Given the description of an element on the screen output the (x, y) to click on. 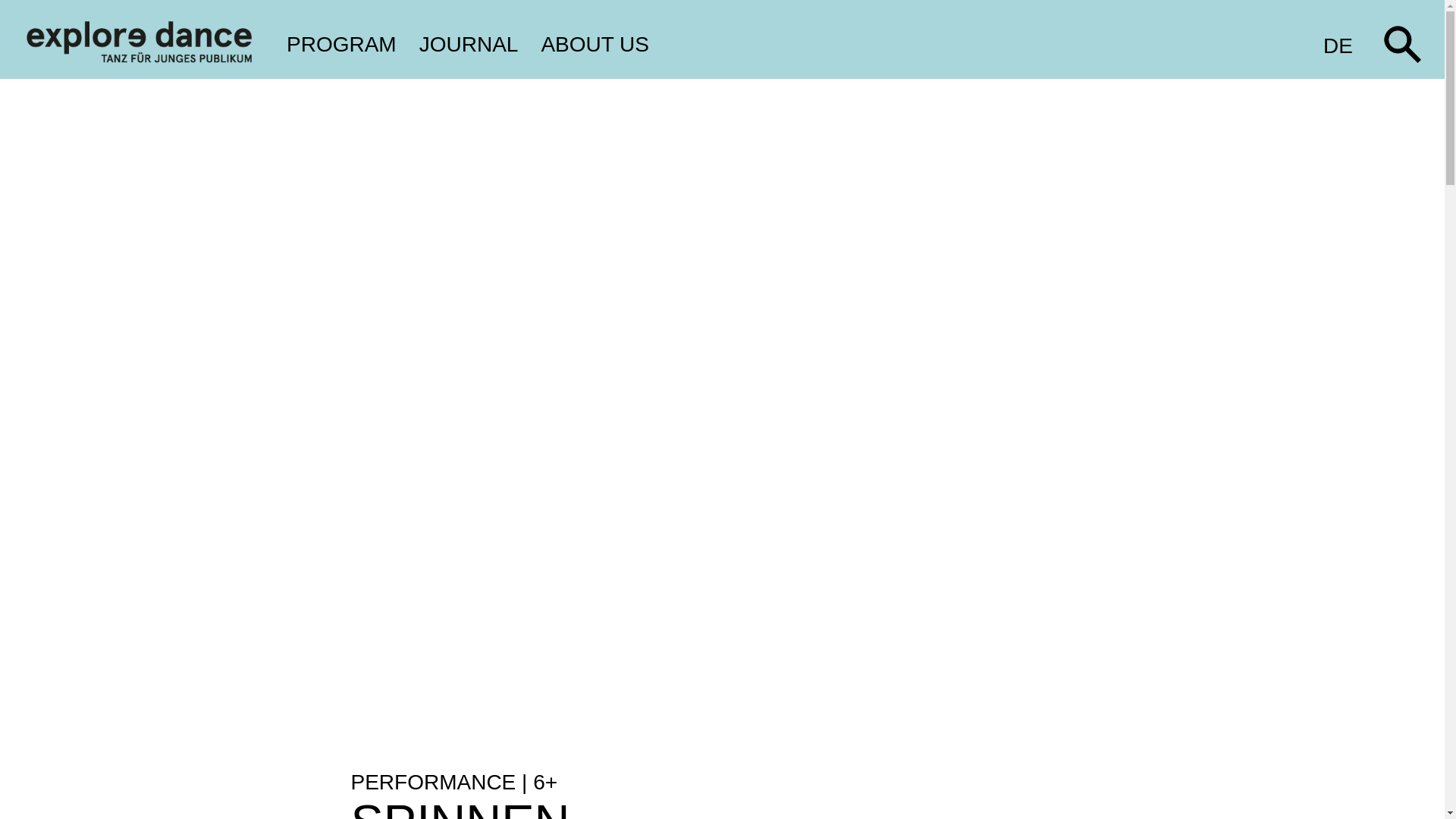
DE (1337, 45)
Journal (474, 44)
About us (599, 44)
ABOUT US (599, 44)
PROGRAM (347, 44)
Program (347, 44)
JOURNAL (474, 44)
